Given the description of an element on the screen output the (x, y) to click on. 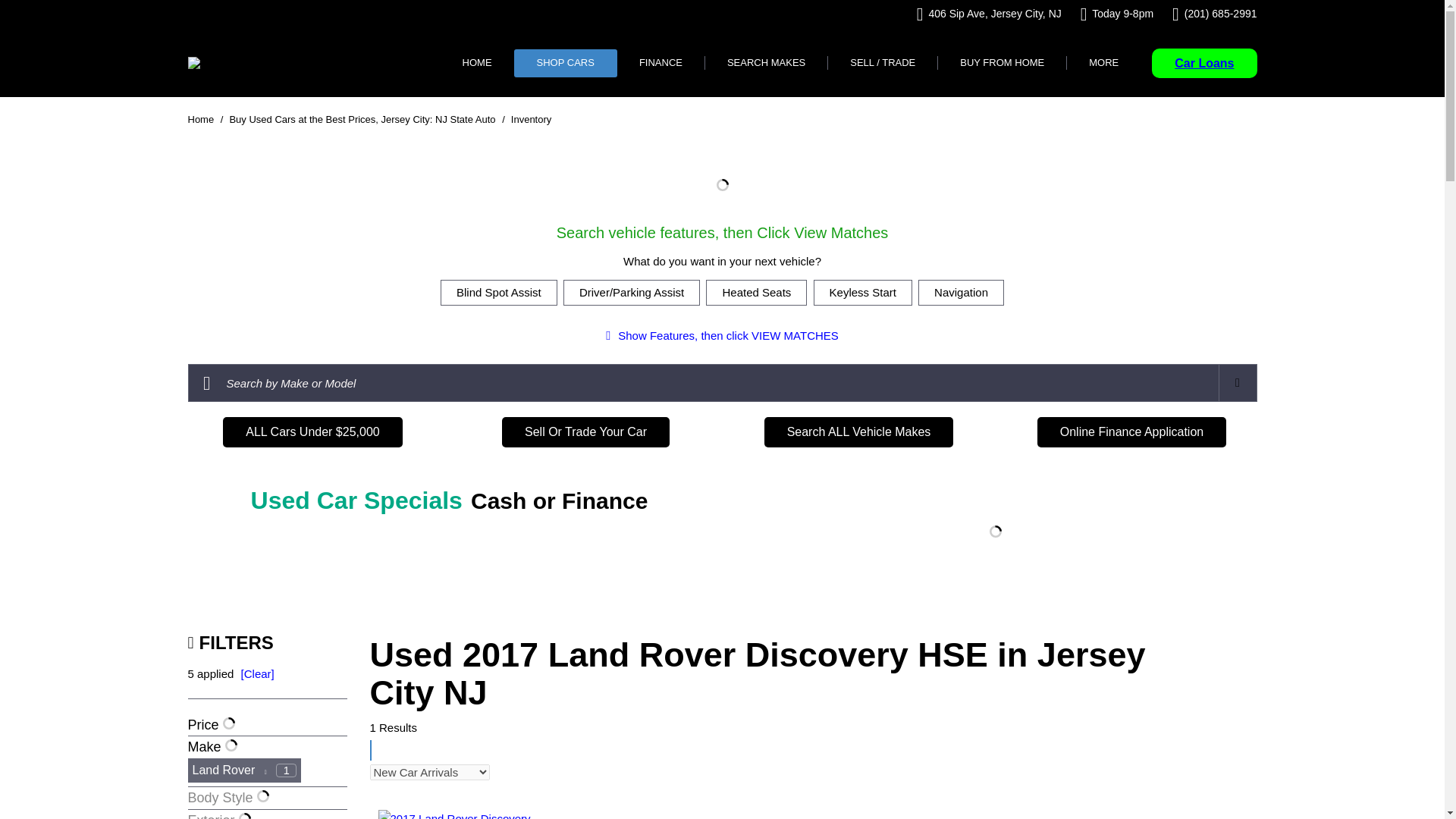
406 Sip Ave, Jersey City, NJ (989, 14)
FINANCE (659, 62)
SHOP CARS (565, 62)
SEARCH MAKES (766, 62)
2017 Land Rover Discovery (453, 814)
HOME (477, 62)
Today 9-8pm (1116, 14)
Jersey City used car dealerships in nj (193, 62)
